Given the description of an element on the screen output the (x, y) to click on. 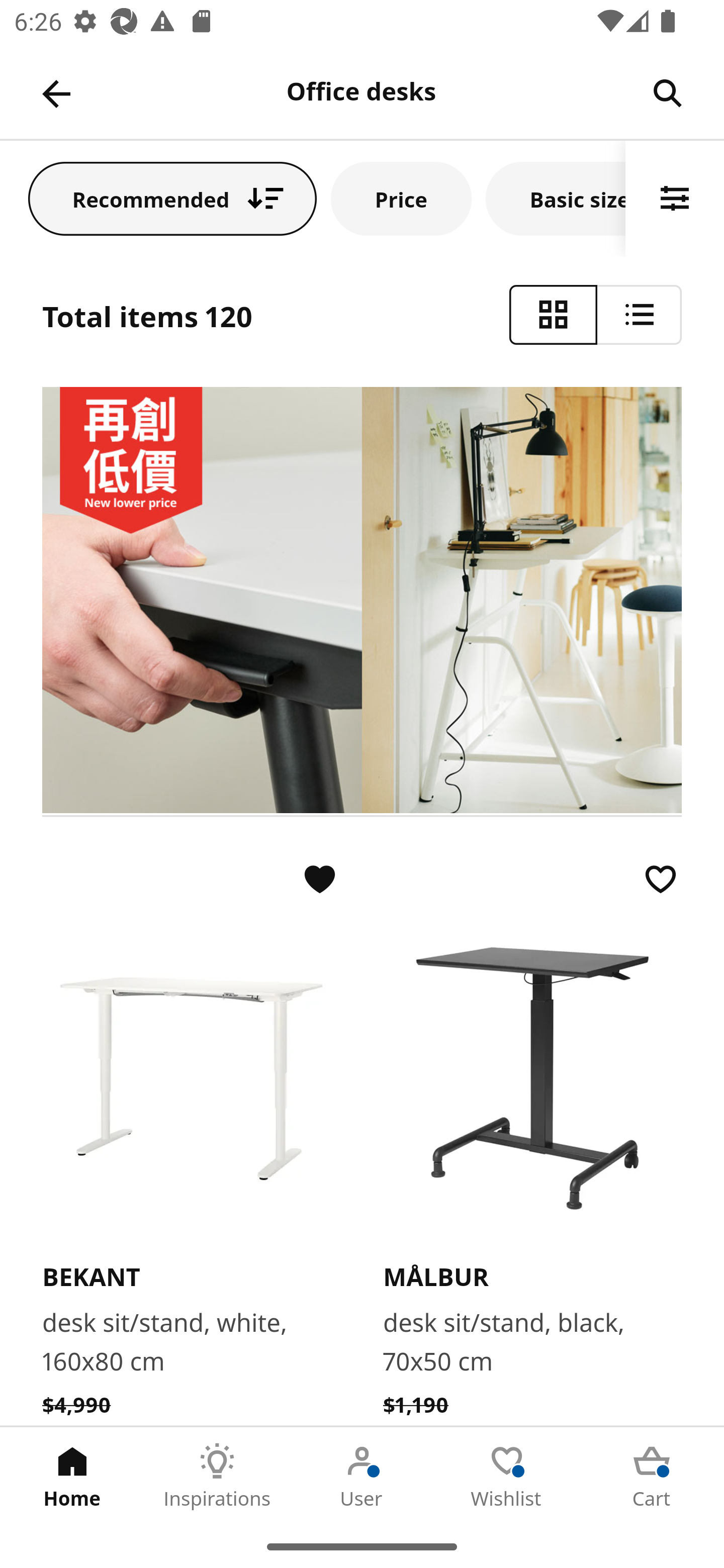
Recommended (172, 198)
Price (400, 198)
Basic sizes (555, 198)
Home
Tab 1 of 5 (72, 1476)
Inspirations
Tab 2 of 5 (216, 1476)
User
Tab 3 of 5 (361, 1476)
Wishlist
Tab 4 of 5 (506, 1476)
Cart
Tab 5 of 5 (651, 1476)
